Given the description of an element on the screen output the (x, y) to click on. 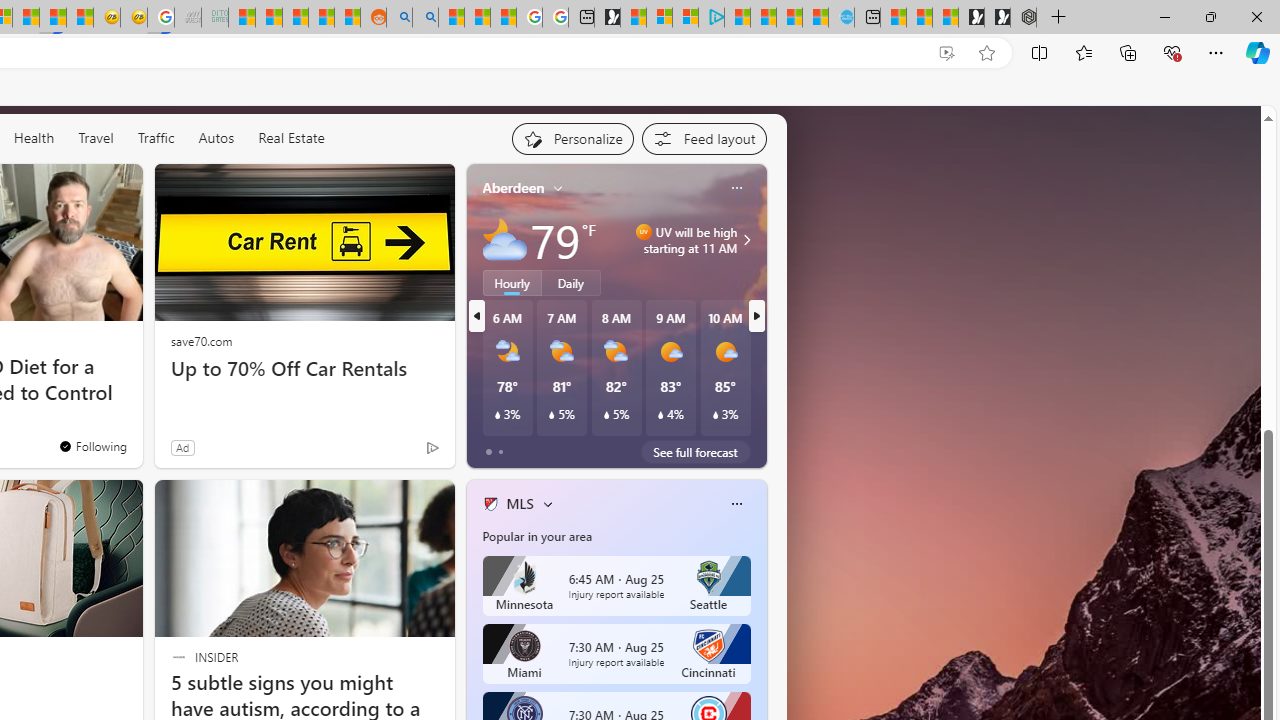
Feed settings (703, 138)
Personalize your feed" (571, 138)
Traffic (155, 137)
tab-0 (488, 451)
Autos (216, 138)
